Given the description of an element on the screen output the (x, y) to click on. 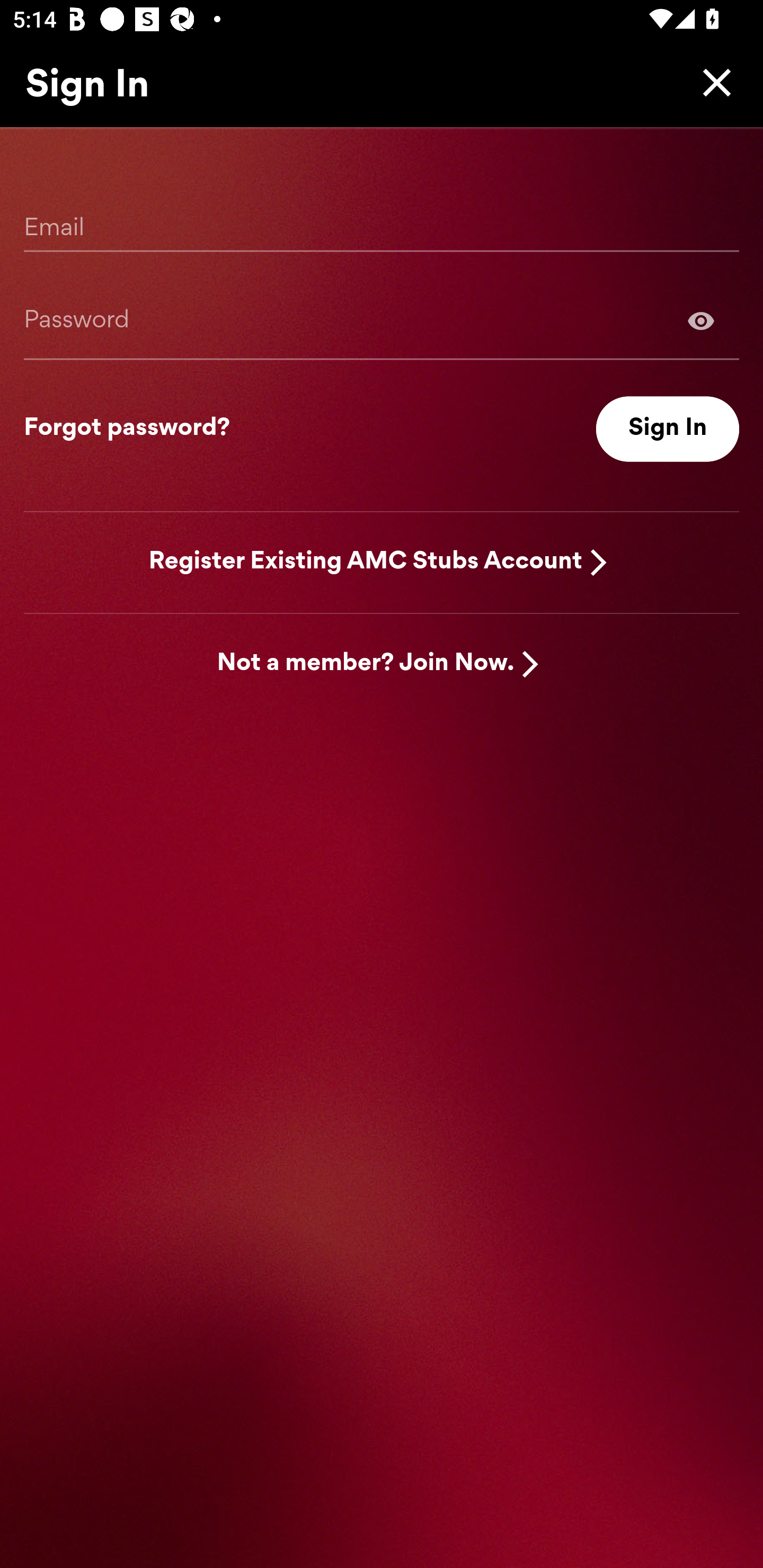
Close (712, 82)
Show Password (381, 320)
Show Password (701, 320)
Forgot password? (126, 428)
Sign In (667, 428)
Register Existing AMC Stubs Account (365, 561)
Not a member? Join Now. (365, 663)
